Given the description of an element on the screen output the (x, y) to click on. 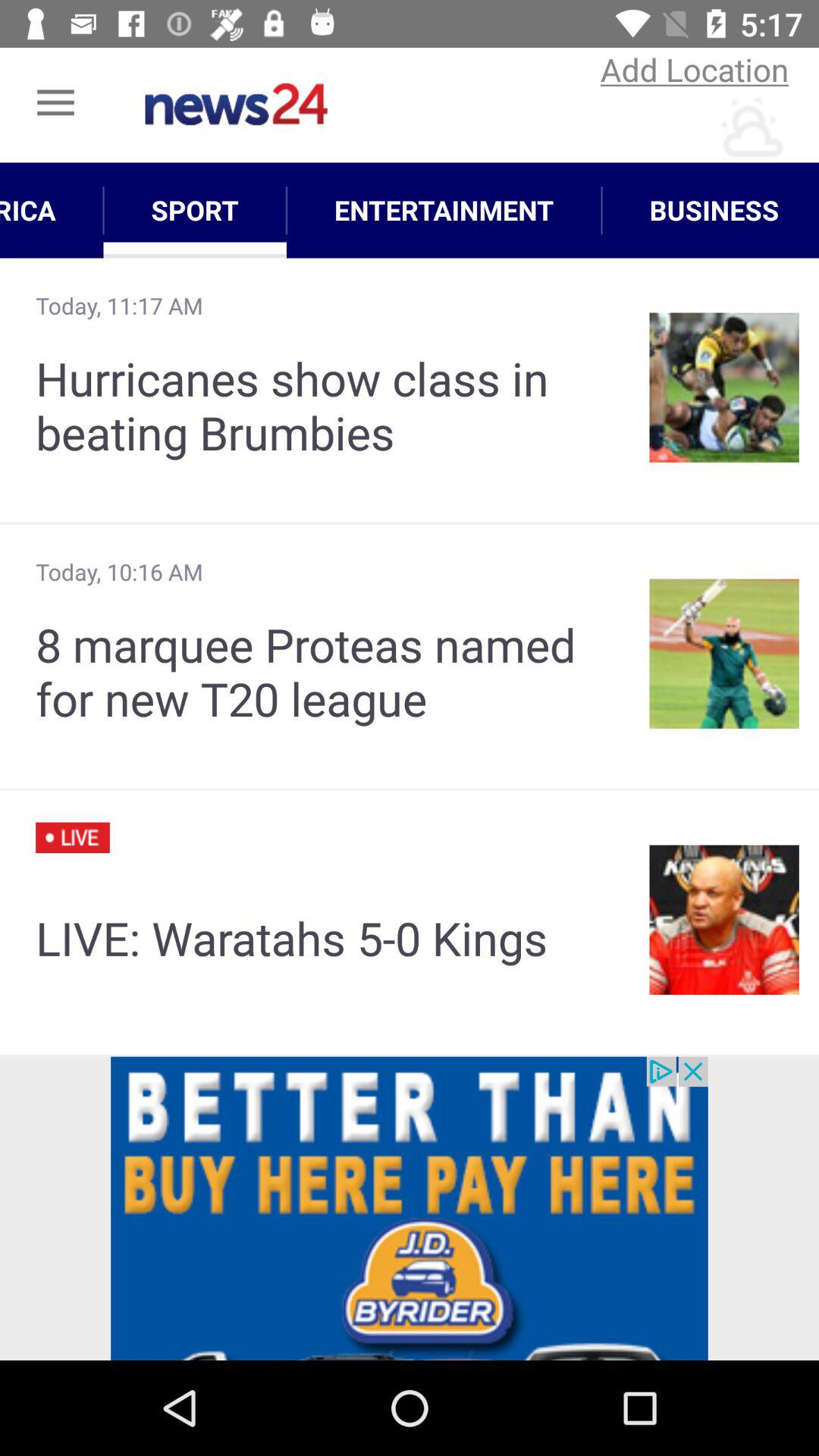
advertisent page (409, 1208)
